Given the description of an element on the screen output the (x, y) to click on. 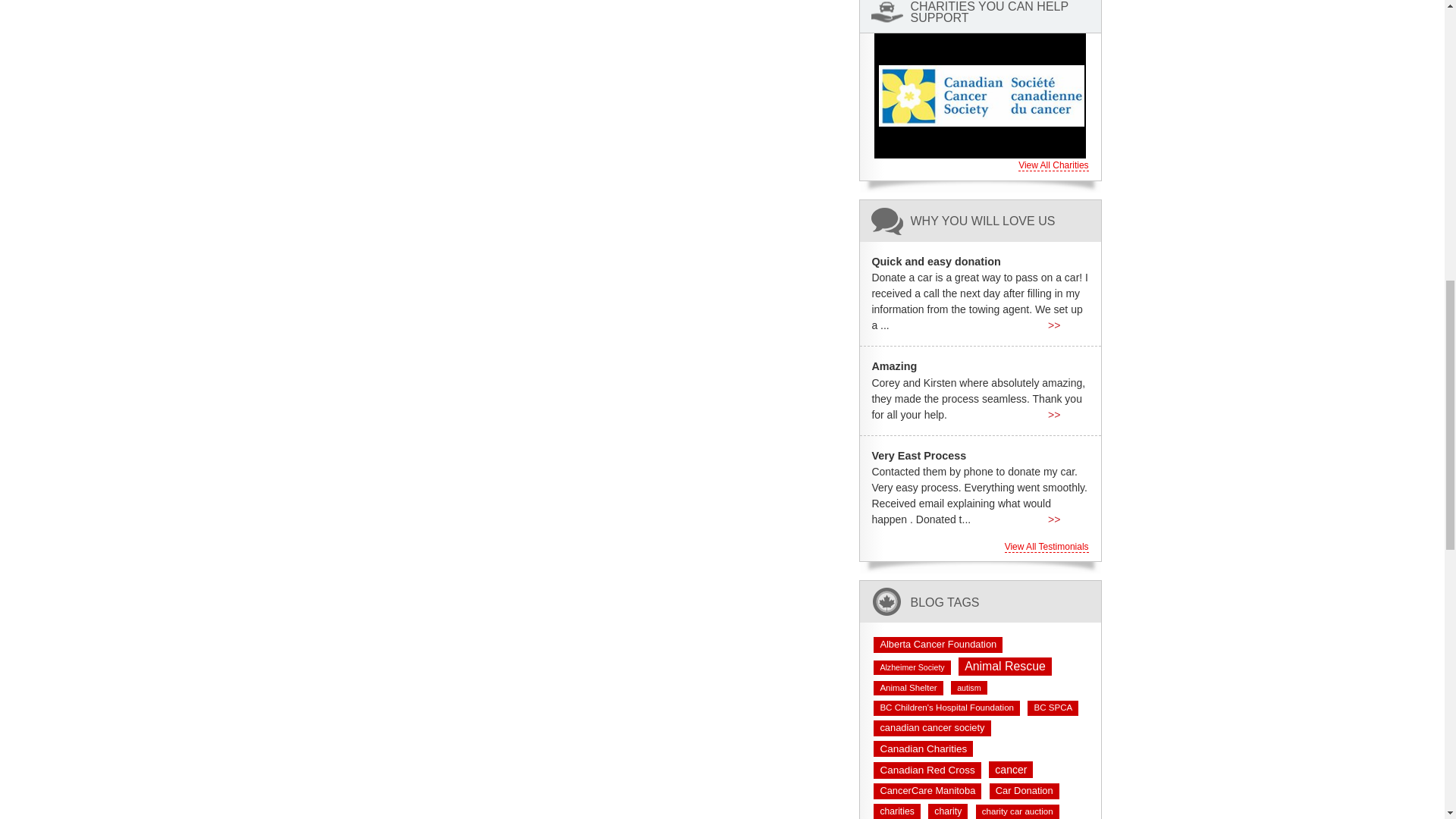
View All Charities (1052, 165)
CHARITIES YOU CAN HELP SUPPORT (1001, 11)
WHY YOU WILL LOVE US (982, 220)
